Given the description of an element on the screen output the (x, y) to click on. 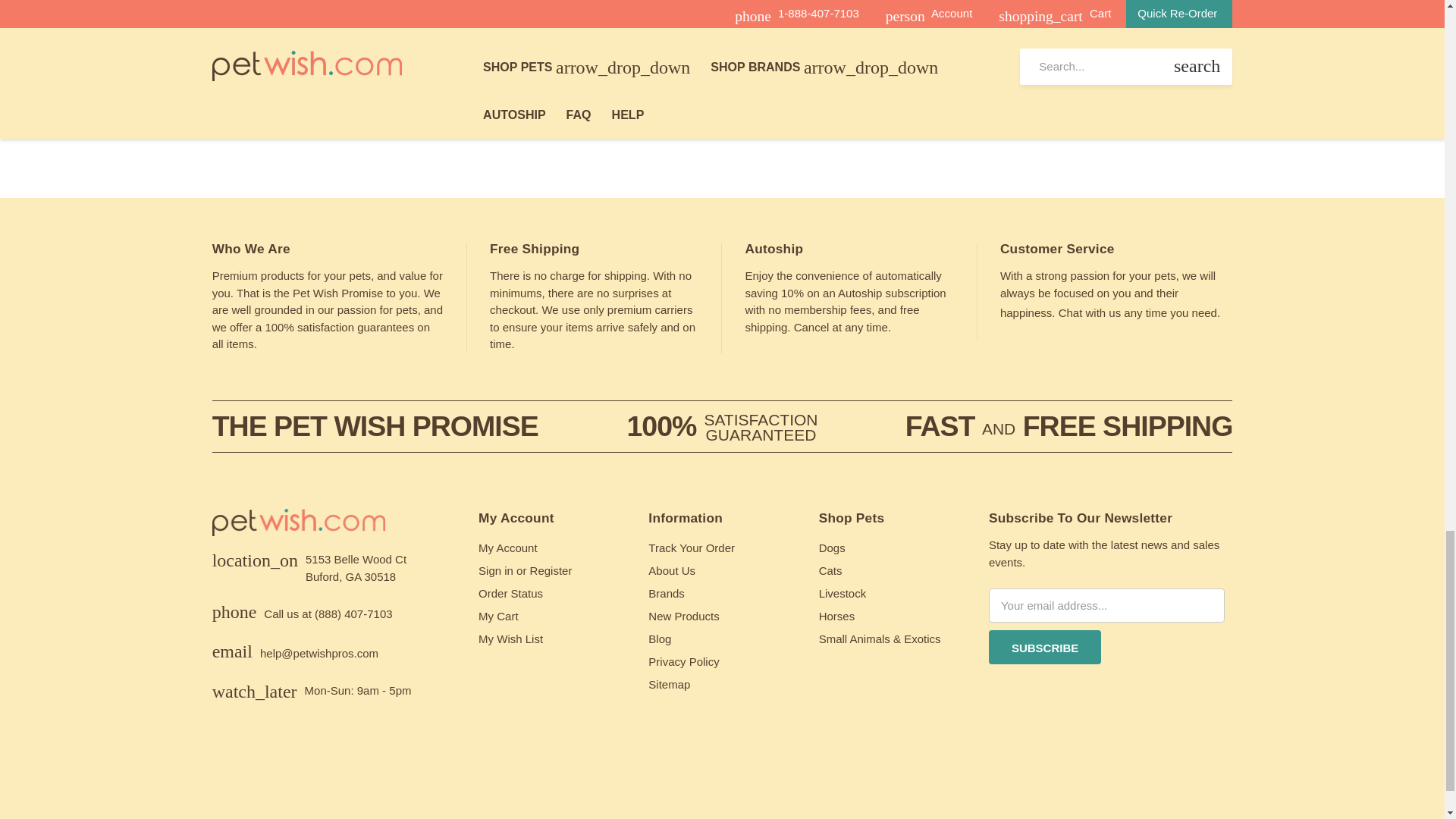
Subscribe (1044, 646)
Pet Wish Pros (298, 529)
